Given the description of an element on the screen output the (x, y) to click on. 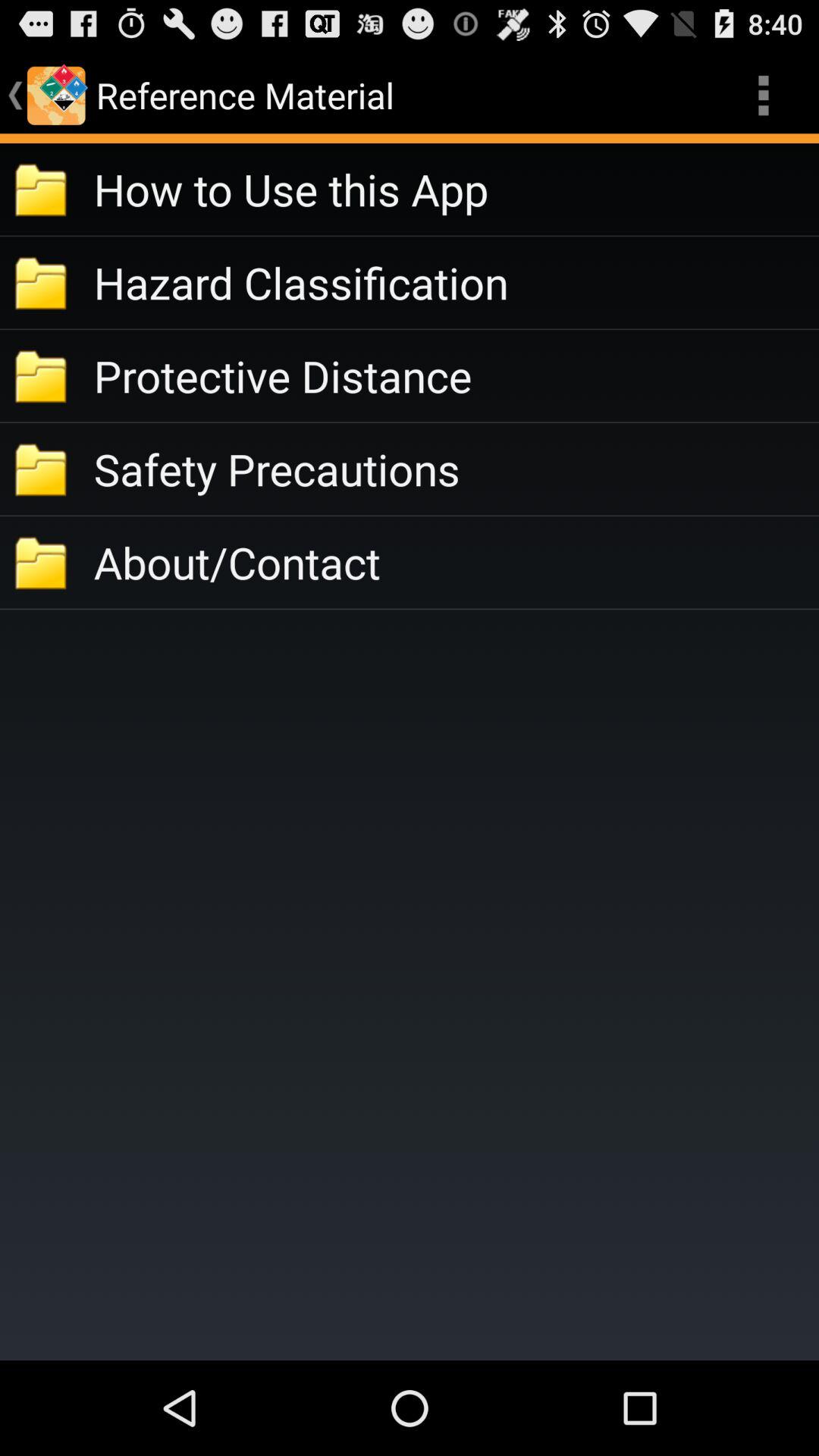
press item above the how to use item (763, 95)
